Given the description of an element on the screen output the (x, y) to click on. 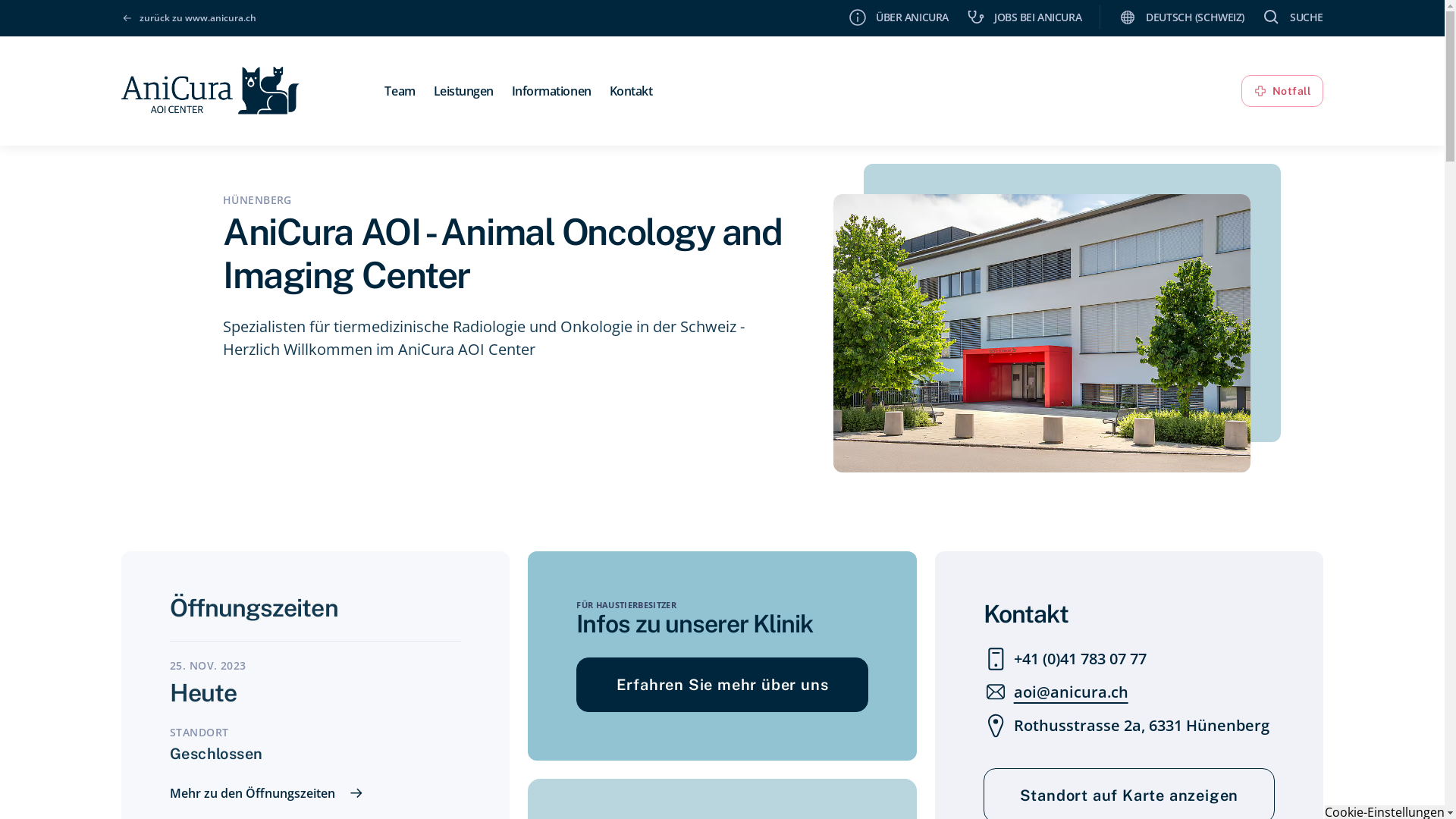
Kontakt Element type: text (630, 90)
SUCHE Element type: text (1292, 17)
+41 (0)41 783 07 77 Element type: text (1064, 658)
DEUTSCH (SCHWEIZ) Element type: text (1181, 17)
JOBS BEI ANICURA Element type: text (1023, 17)
Informationen Element type: text (551, 90)
aoi@anicura.ch Element type: text (1055, 692)
Notfall Element type: text (1282, 90)
Team Element type: text (399, 90)
Back to home page Element type: hover (210, 87)
Leistungen Element type: text (463, 90)
